Given the description of an element on the screen output the (x, y) to click on. 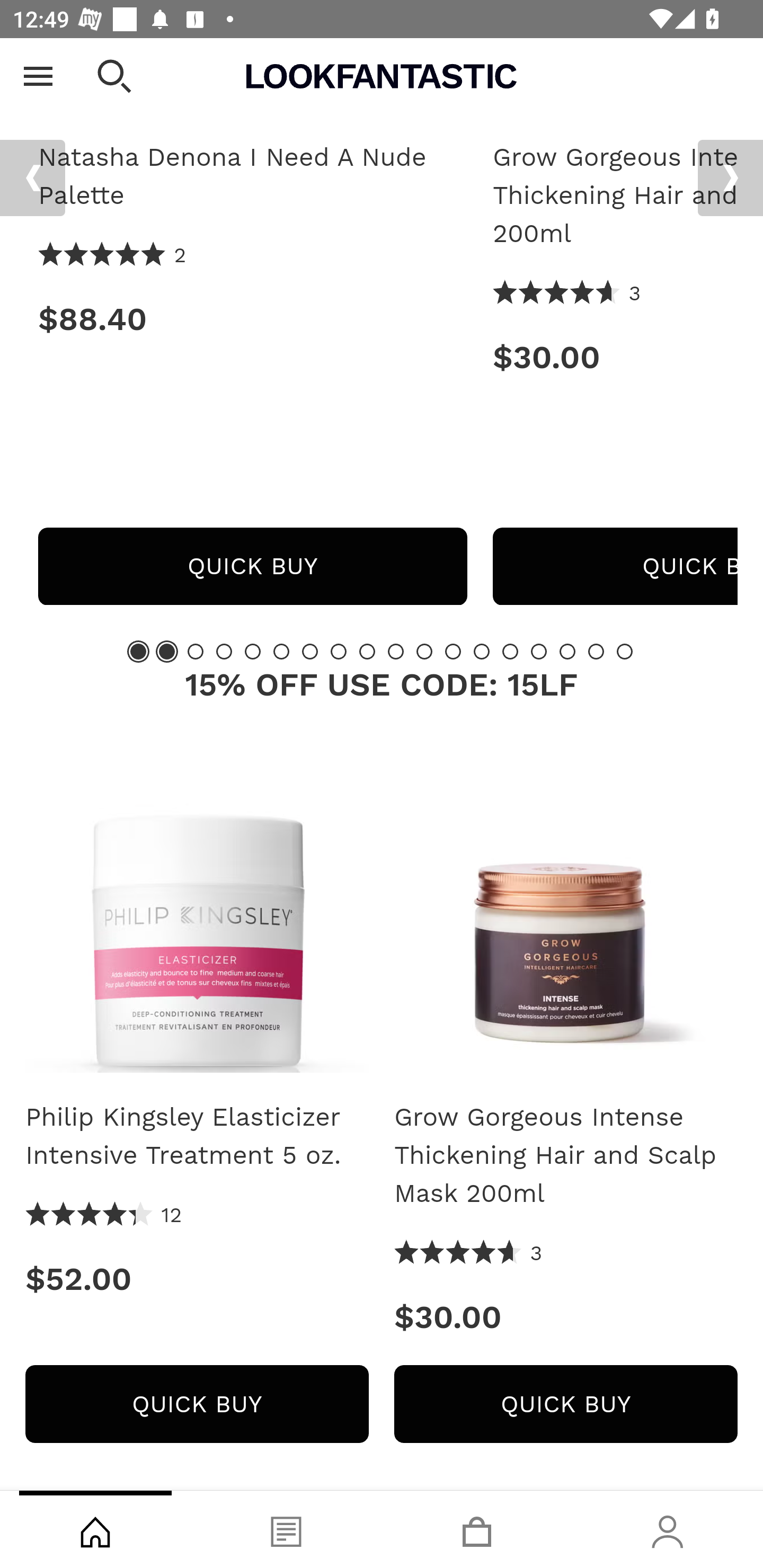
Natasha Denona I Need A Nude Palette (252, 176)
Previous (32, 178)
Next (730, 178)
5.0 Stars 2 Reviews (112, 255)
4.67 Stars 3 Reviews (567, 294)
Price: $88.40 (252, 320)
Price: $30.00 (614, 358)
QUICK BUY NATASHA DENONA I NEED A NUDE PALETTE (252, 566)
Showing Slide 1 (Current Item) (138, 651)
Showing Slide 2 (Current Item) (166, 651)
Slide 3 (195, 651)
Slide 4 (223, 651)
Slide 5 (252, 651)
Slide 6 (281, 651)
Slide 7 (310, 651)
Slide 8 (338, 651)
Slide 9 (367, 651)
Slide 10 (395, 651)
Slide 11 (424, 651)
Slide 12 (452, 651)
Slide 13 (481, 651)
Slide 14 (510, 651)
Slide 15 (539, 651)
Slide 16 (567, 651)
Slide 17 (596, 651)
Slide 18 (624, 651)
4.33 Stars 12 Reviews (104, 1215)
4.67 Stars 3 Reviews (468, 1254)
Price: $52.00 (196, 1280)
Price: $30.00 (565, 1317)
Shop, tab, 1 of 4 (95, 1529)
Blog, tab, 2 of 4 (285, 1529)
Basket, tab, 3 of 4 (476, 1529)
Account, tab, 4 of 4 (667, 1529)
